Given the description of an element on the screen output the (x, y) to click on. 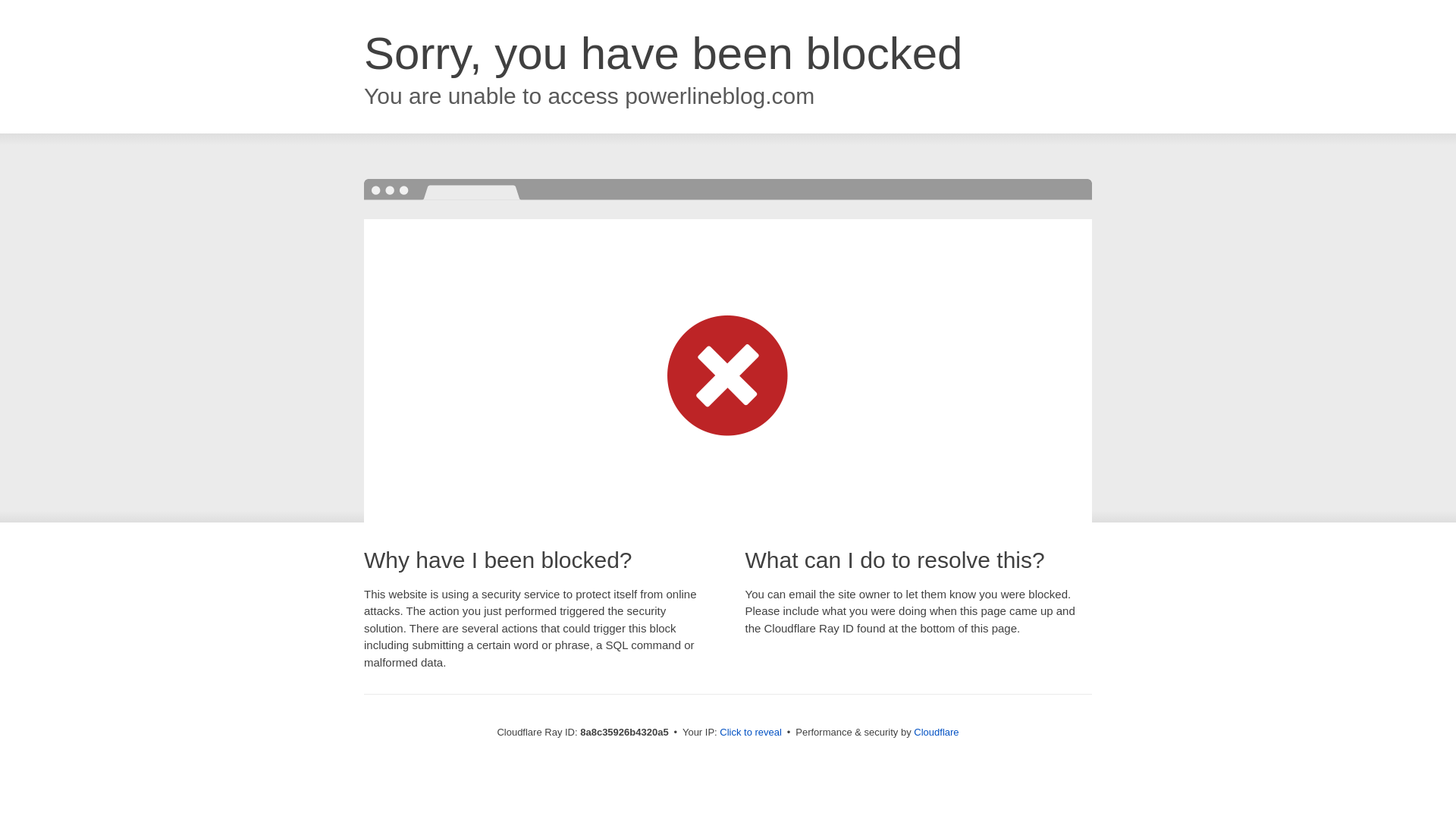
Click to reveal (750, 732)
Cloudflare (936, 731)
